Given the description of an element on the screen output the (x, y) to click on. 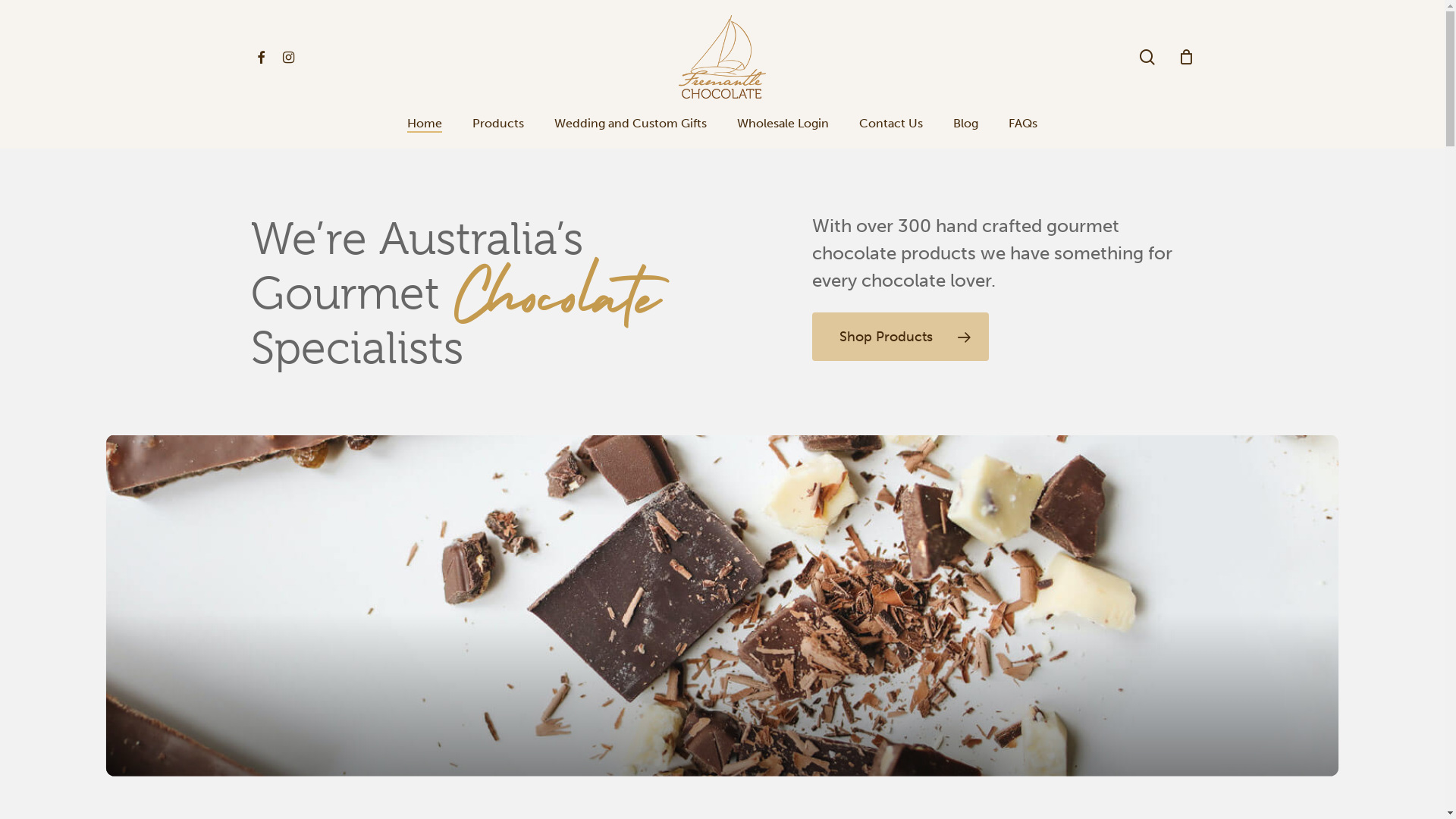
Products Element type: text (498, 123)
Contact Us Element type: text (890, 123)
facebook Element type: text (260, 56)
FAQs Element type: text (1022, 123)
Wedding and Custom Gifts Element type: text (630, 123)
instagram Element type: text (287, 56)
Home Element type: text (424, 123)
Blog Element type: text (965, 123)
Wholesale Login Element type: text (782, 123)
Customer reviews powered by Trustpilot Element type: hover (1330, 19)
Shop Products Element type: text (900, 336)
search Element type: text (1147, 56)
